Given the description of an element on the screen output the (x, y) to click on. 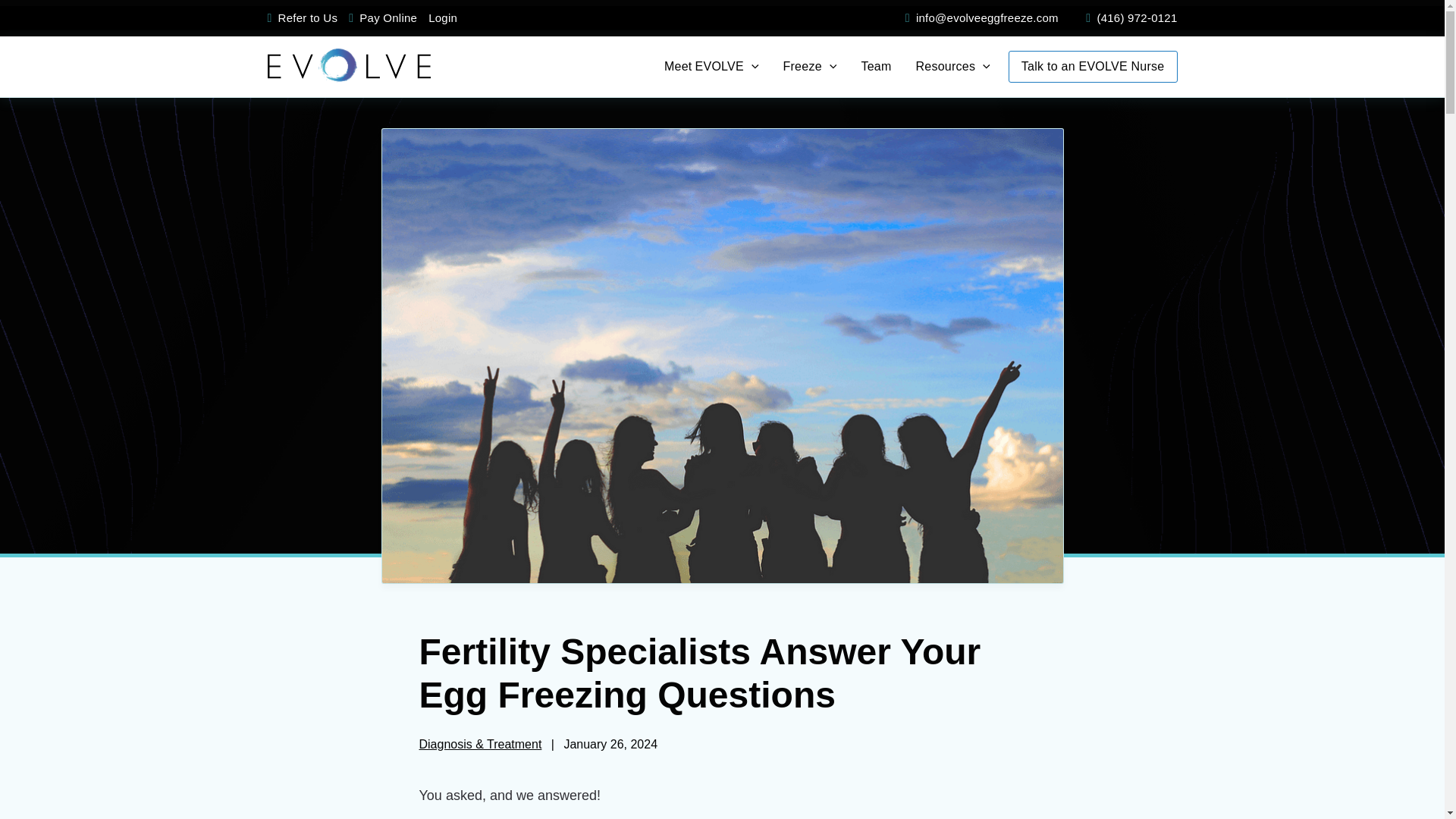
Refer to Us (268, 18)
Refer to Us (307, 18)
Pay Online (388, 18)
Team (875, 66)
Login (448, 18)
Resources (952, 66)
Email Evolve (907, 18)
Pay Online (710, 66)
Talk to an EVOLVE Nurse (351, 18)
Freeze (1093, 66)
Email Evolve (809, 66)
